Given the description of an element on the screen output the (x, y) to click on. 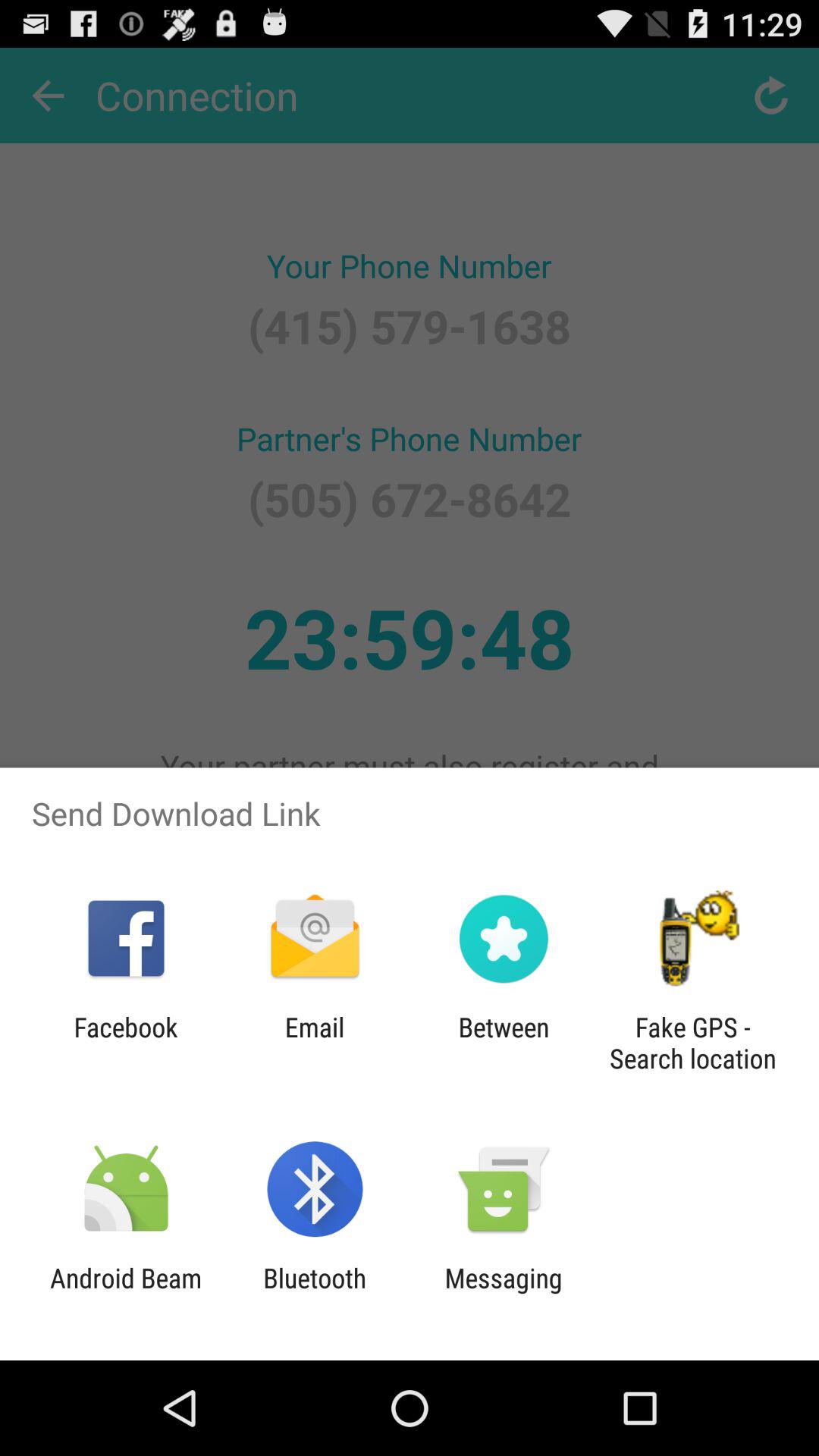
press the icon to the left of the email icon (125, 1042)
